Given the description of an element on the screen output the (x, y) to click on. 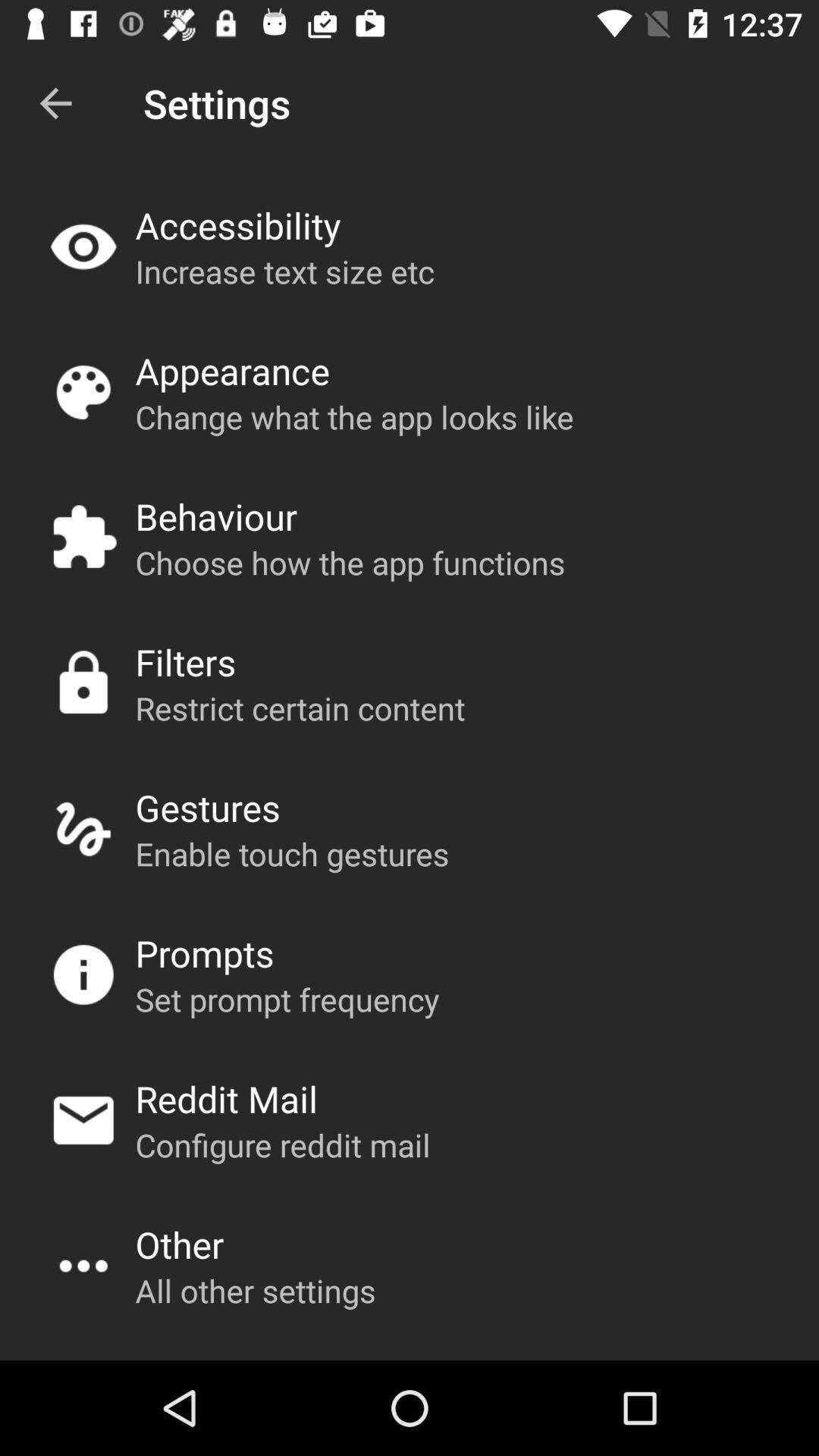
turn on the prompts app (204, 952)
